Given the description of an element on the screen output the (x, y) to click on. 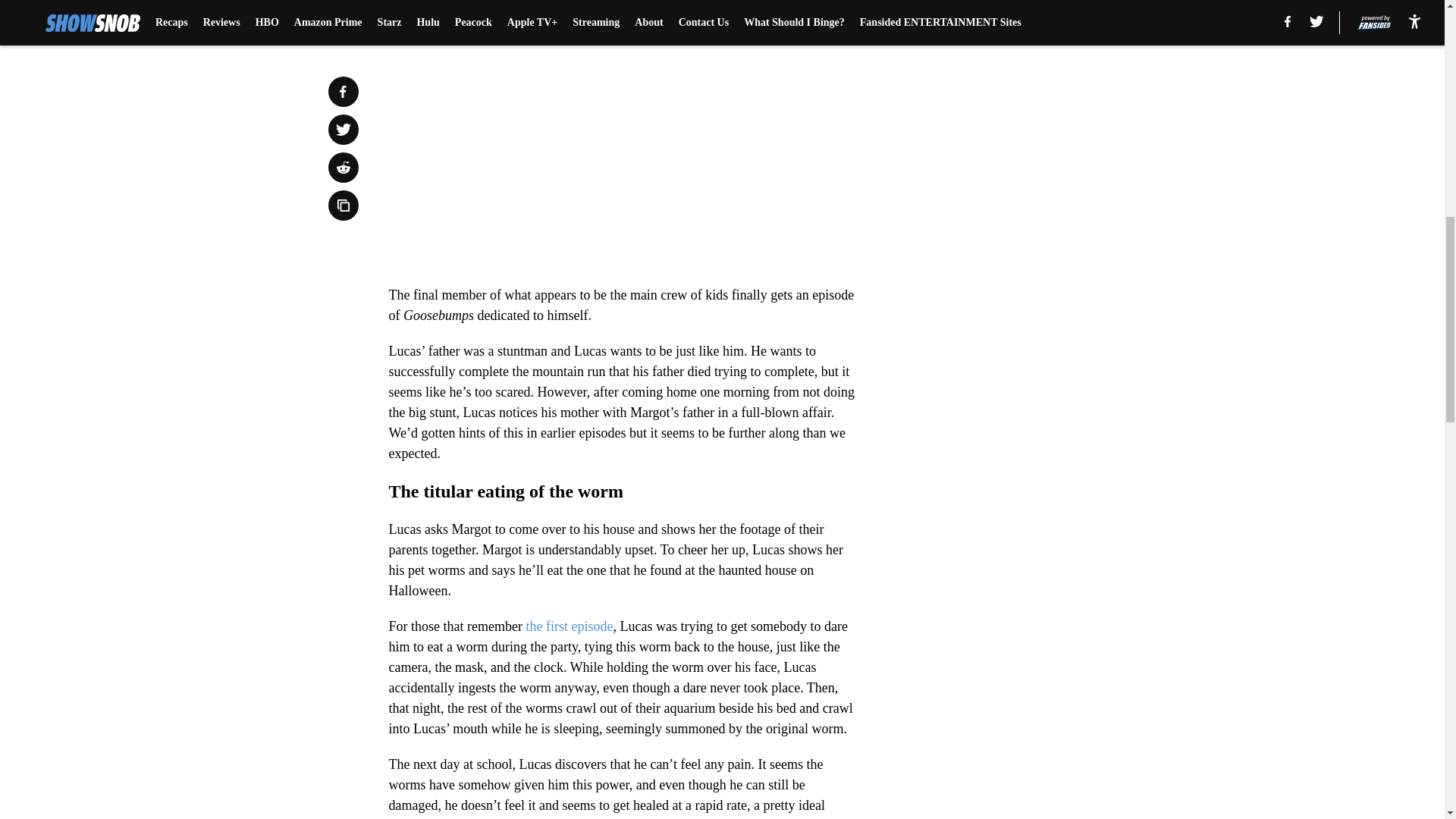
the first episode (568, 626)
